Given the description of an element on the screen output the (x, y) to click on. 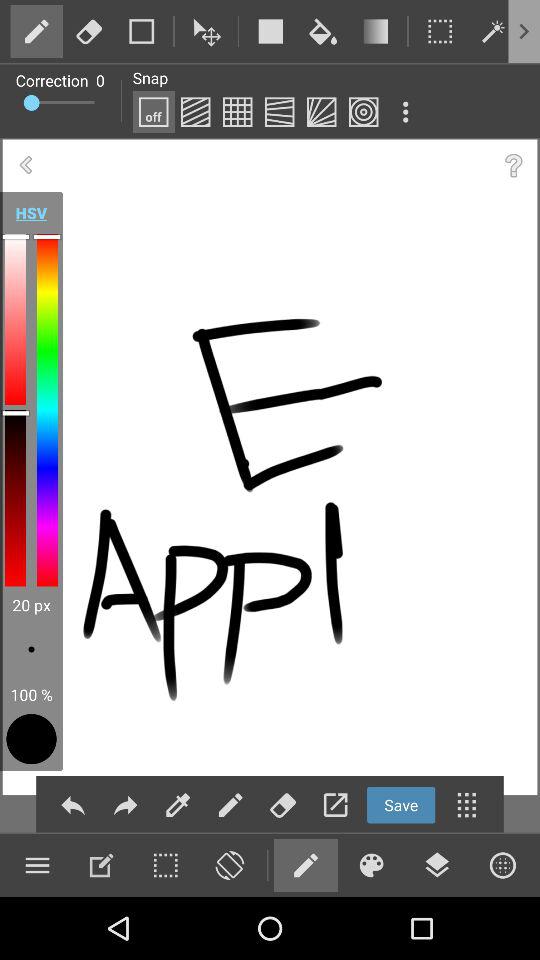
eraser button (229, 865)
